Given the description of an element on the screen output the (x, y) to click on. 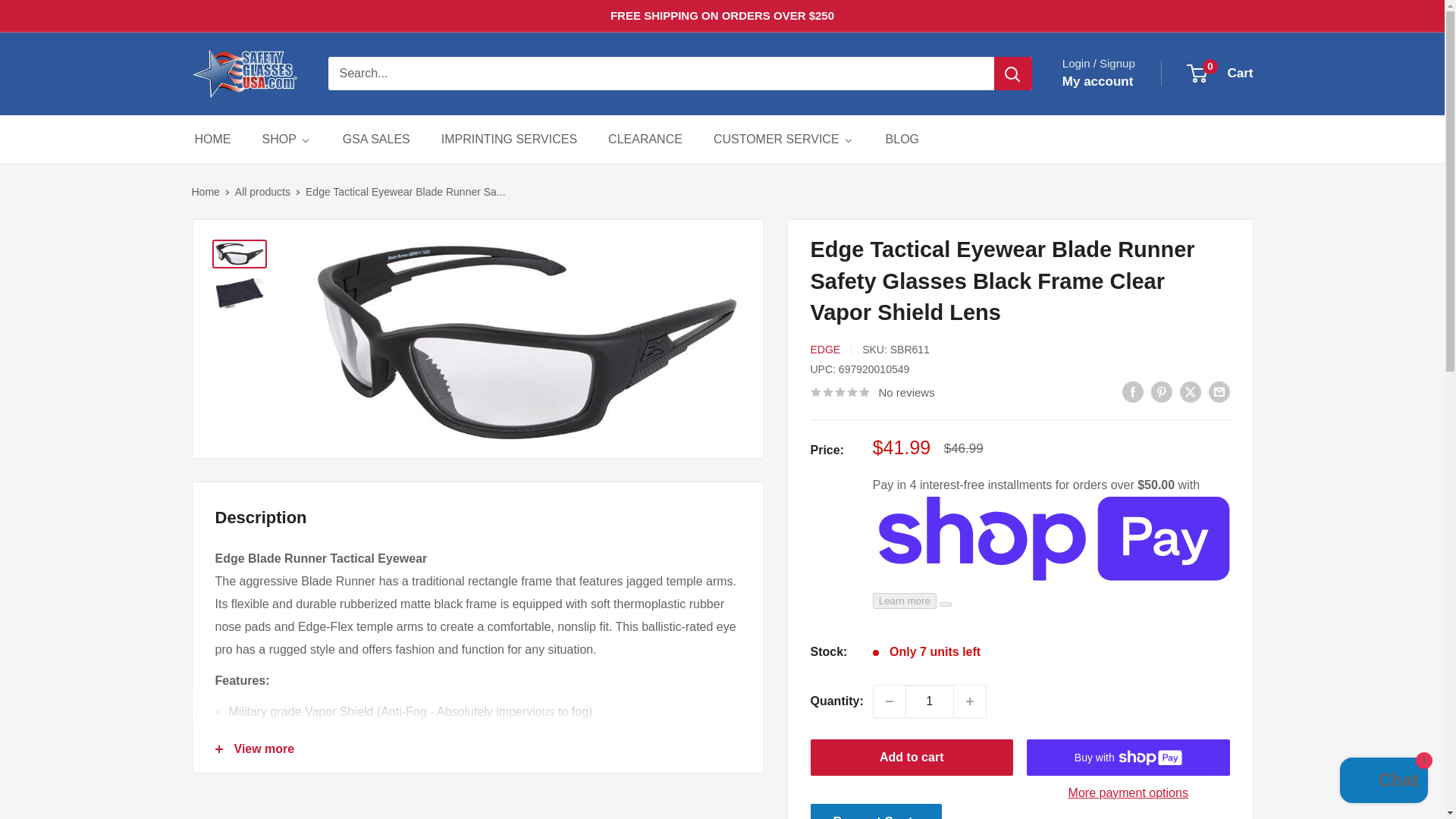
1 (929, 701)
